Given the description of an element on the screen output the (x, y) to click on. 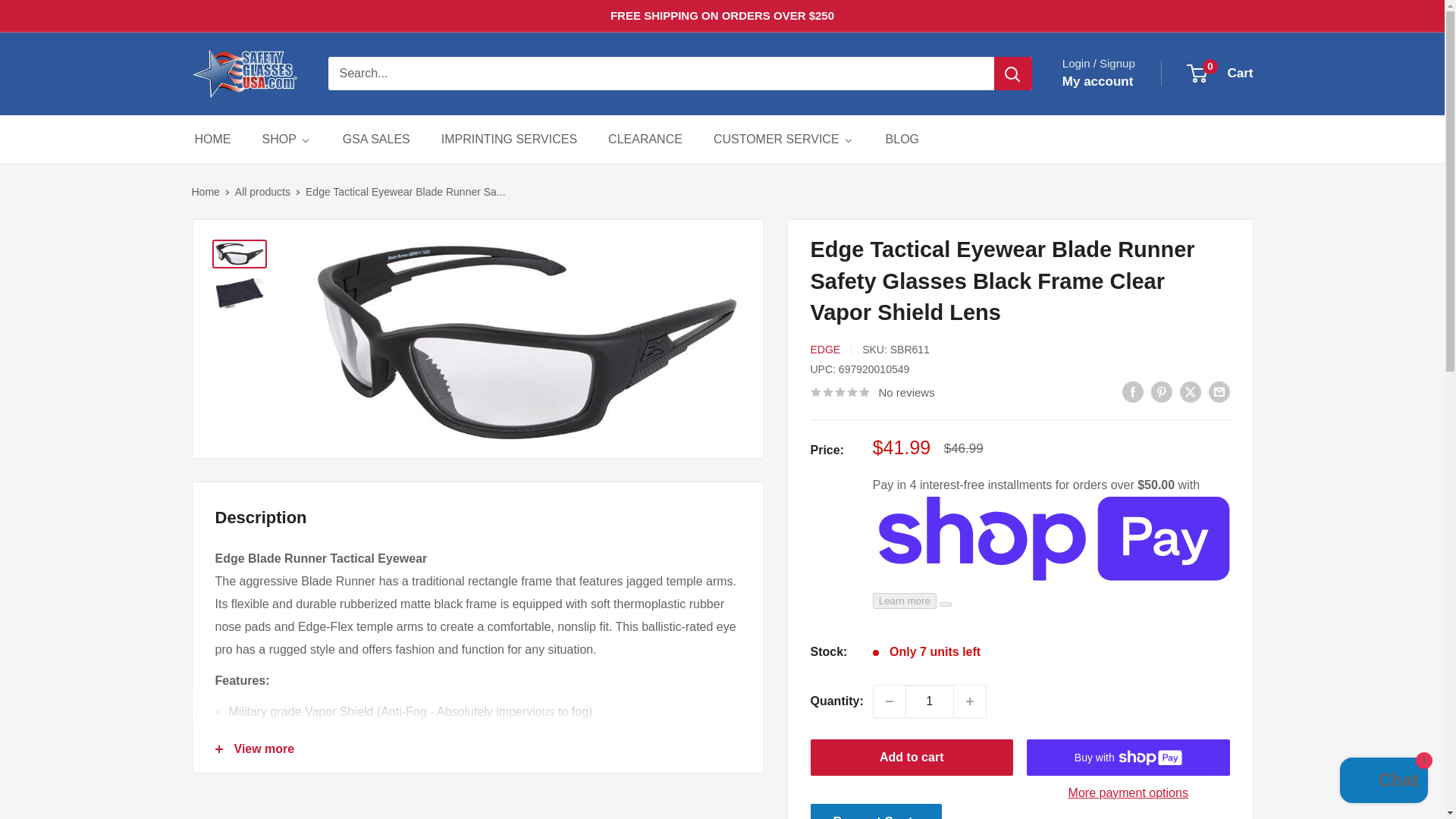
1 (929, 701)
